Given the description of an element on the screen output the (x, y) to click on. 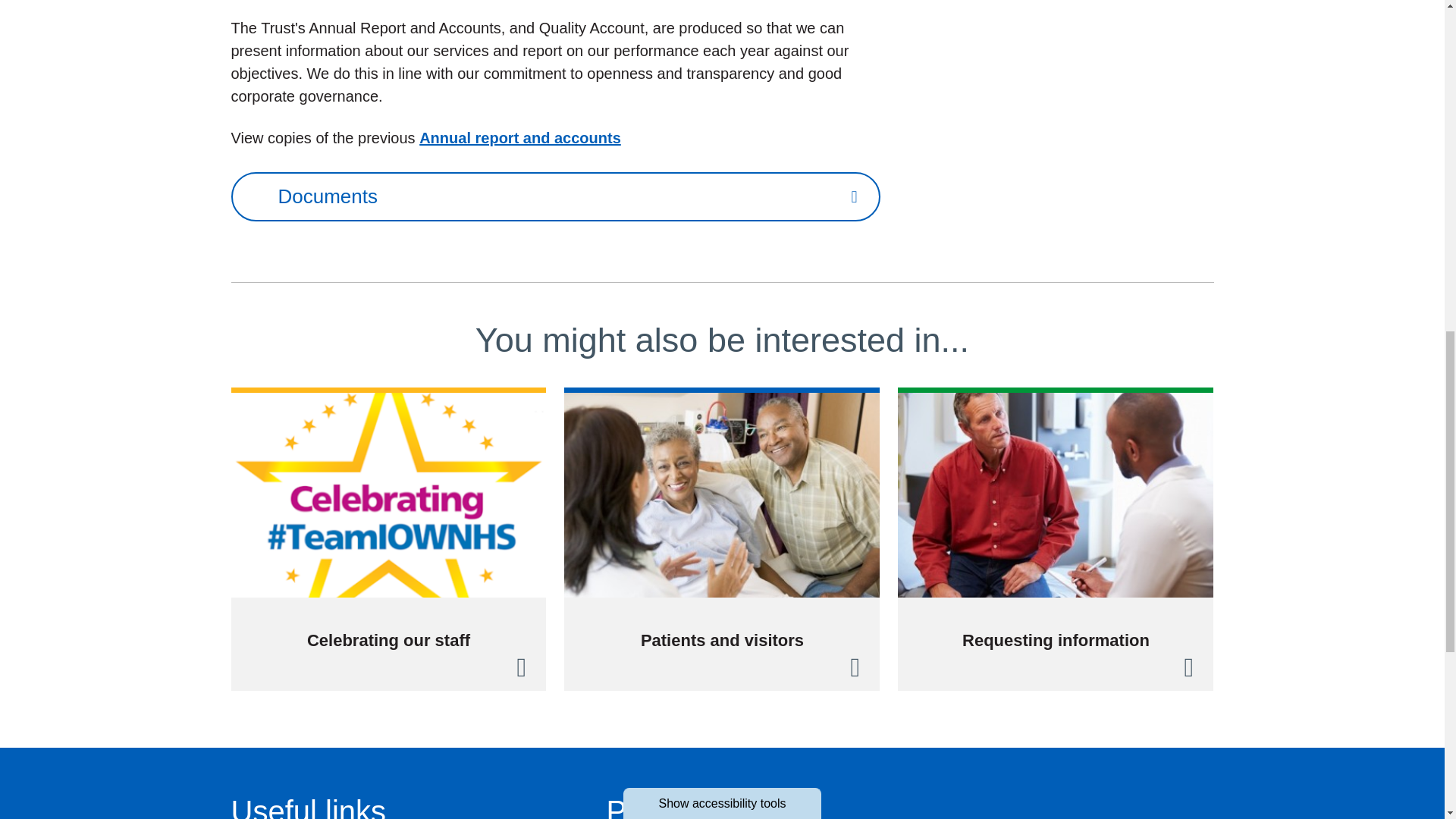
Celebrating our staff (388, 539)
Requesting information (1055, 539)
Patients and visitors (721, 539)
